Given the description of an element on the screen output the (x, y) to click on. 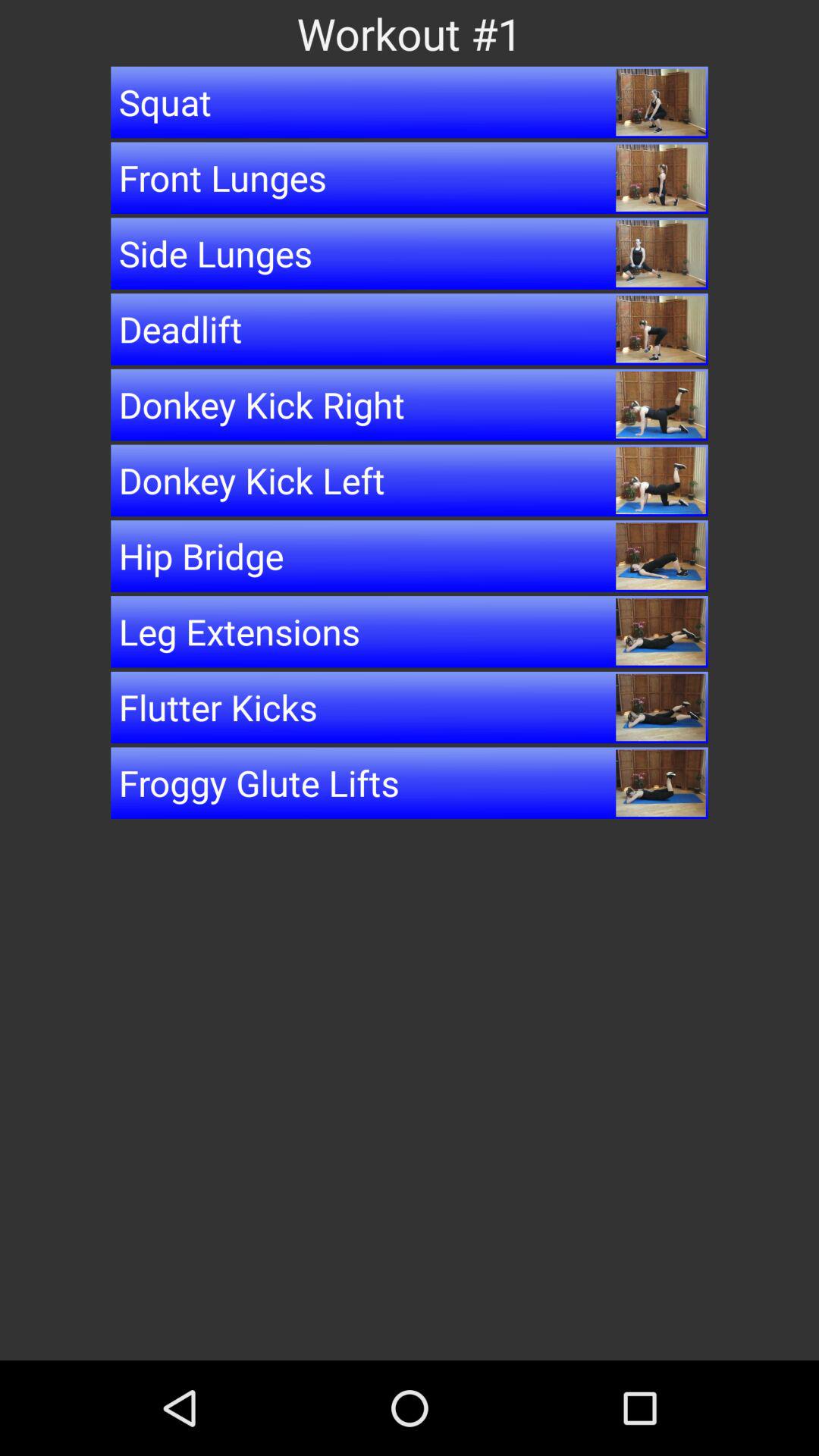
select item below the hip bridge item (409, 631)
